Given the description of an element on the screen output the (x, y) to click on. 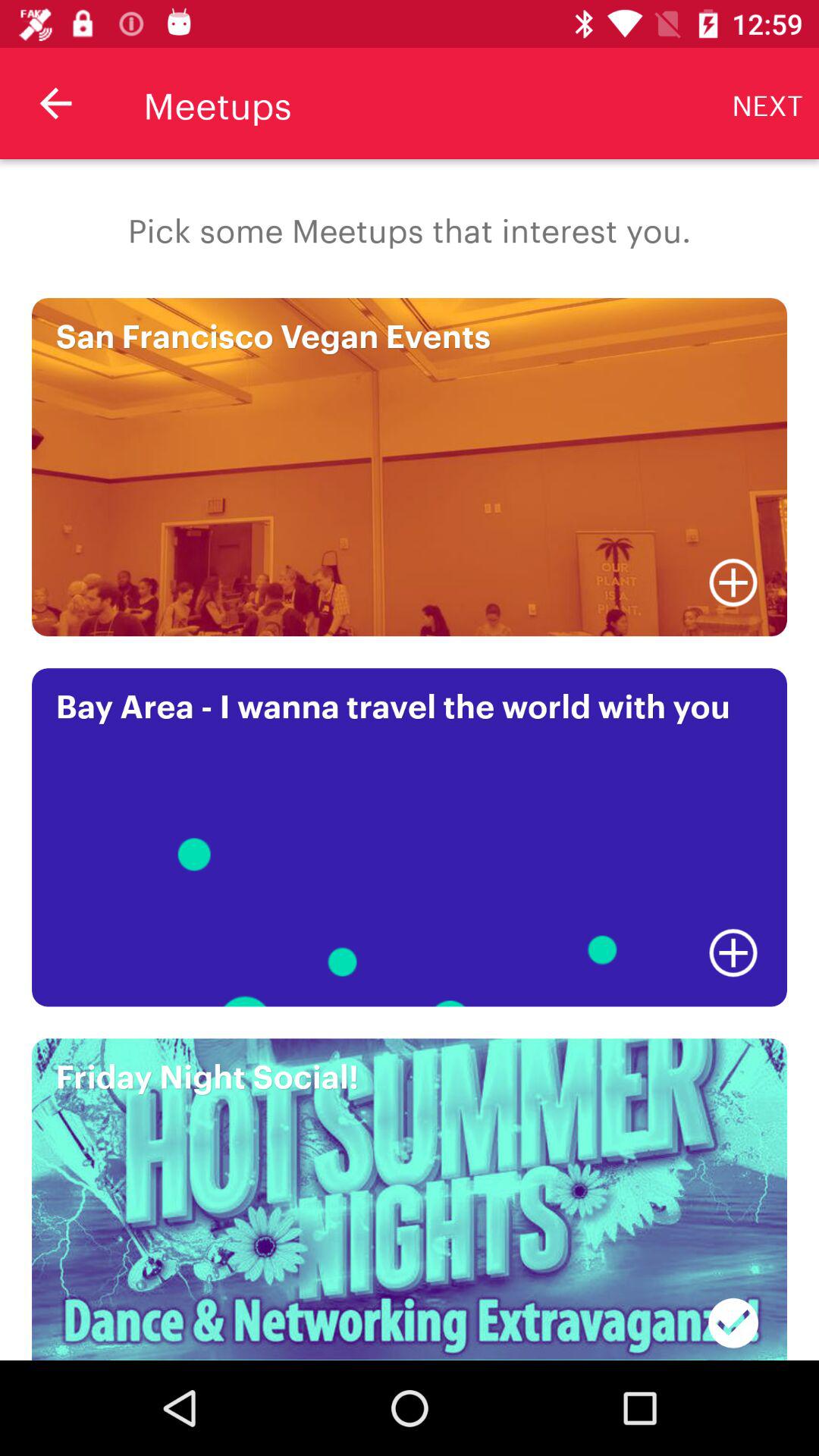
tap item at the top right corner (767, 103)
